Given the description of an element on the screen output the (x, y) to click on. 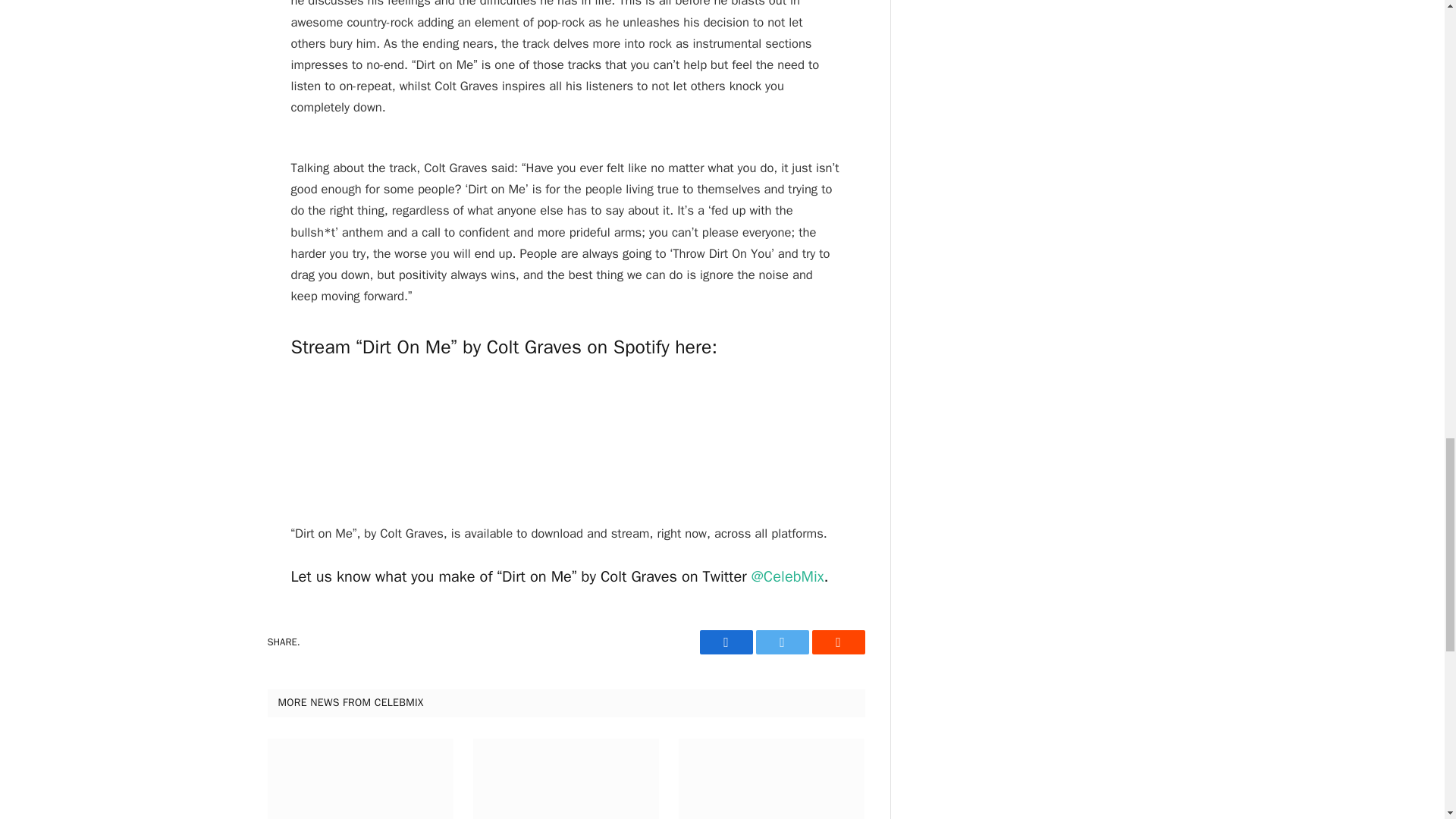
Facebook (725, 641)
Twitter (781, 641)
Reddit (837, 641)
